Given the description of an element on the screen output the (x, y) to click on. 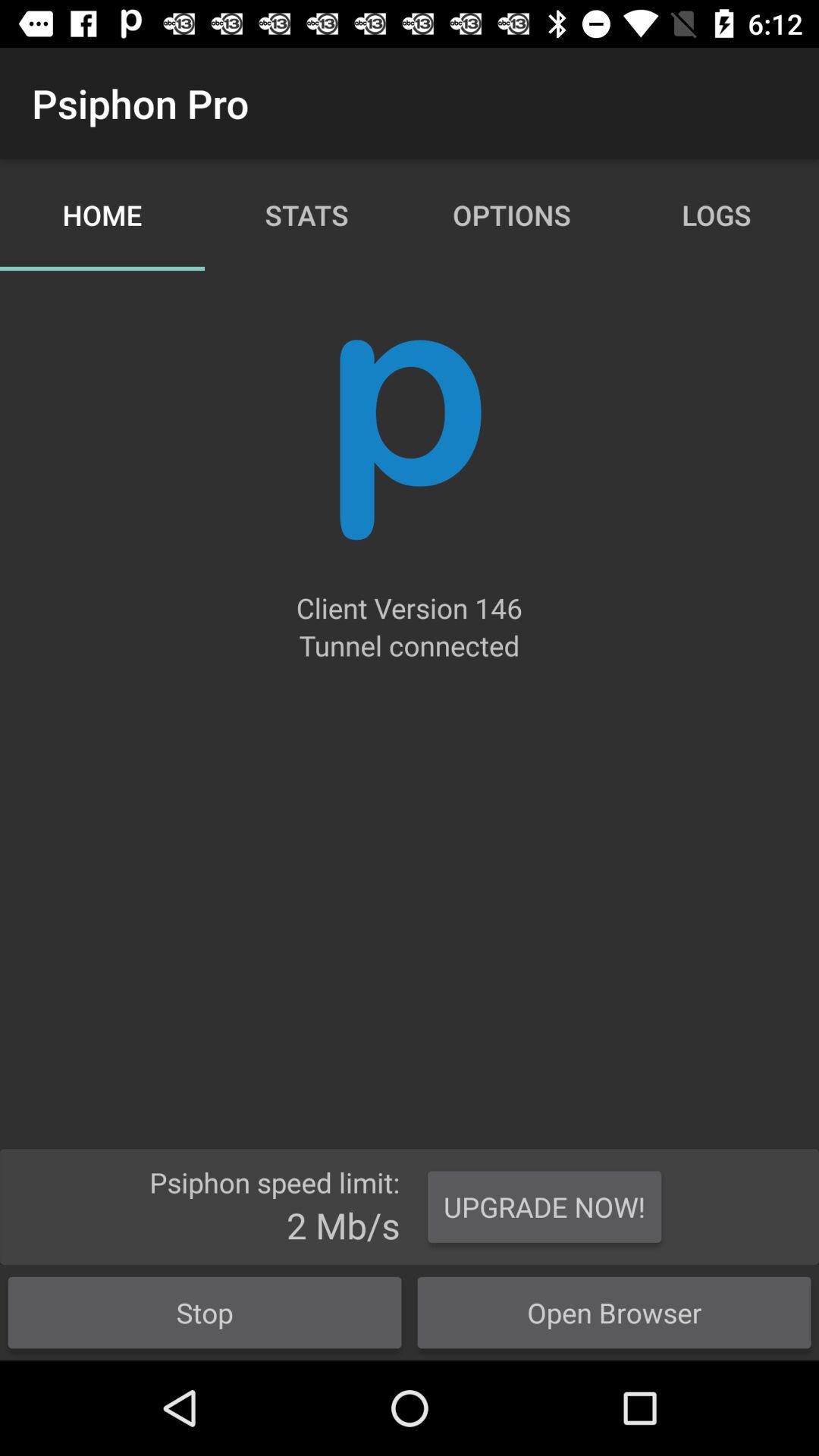
open the app above the client version 146 icon (409, 439)
